Given the description of an element on the screen output the (x, y) to click on. 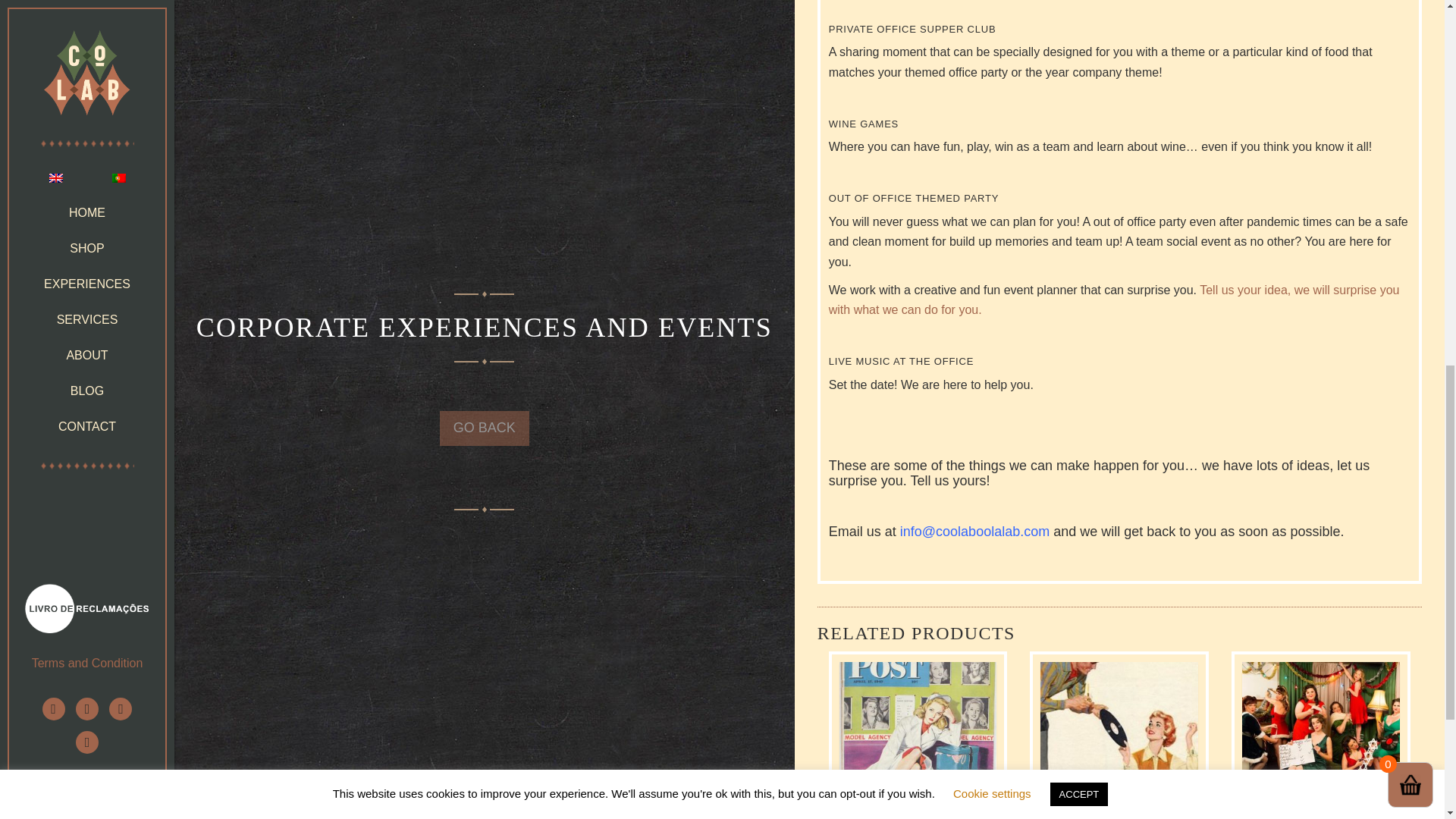
READ REVIEWS OF COOLA BOOLA COLAB - EXPERIENCES (84, 39)
